Given the description of an element on the screen output the (x, y) to click on. 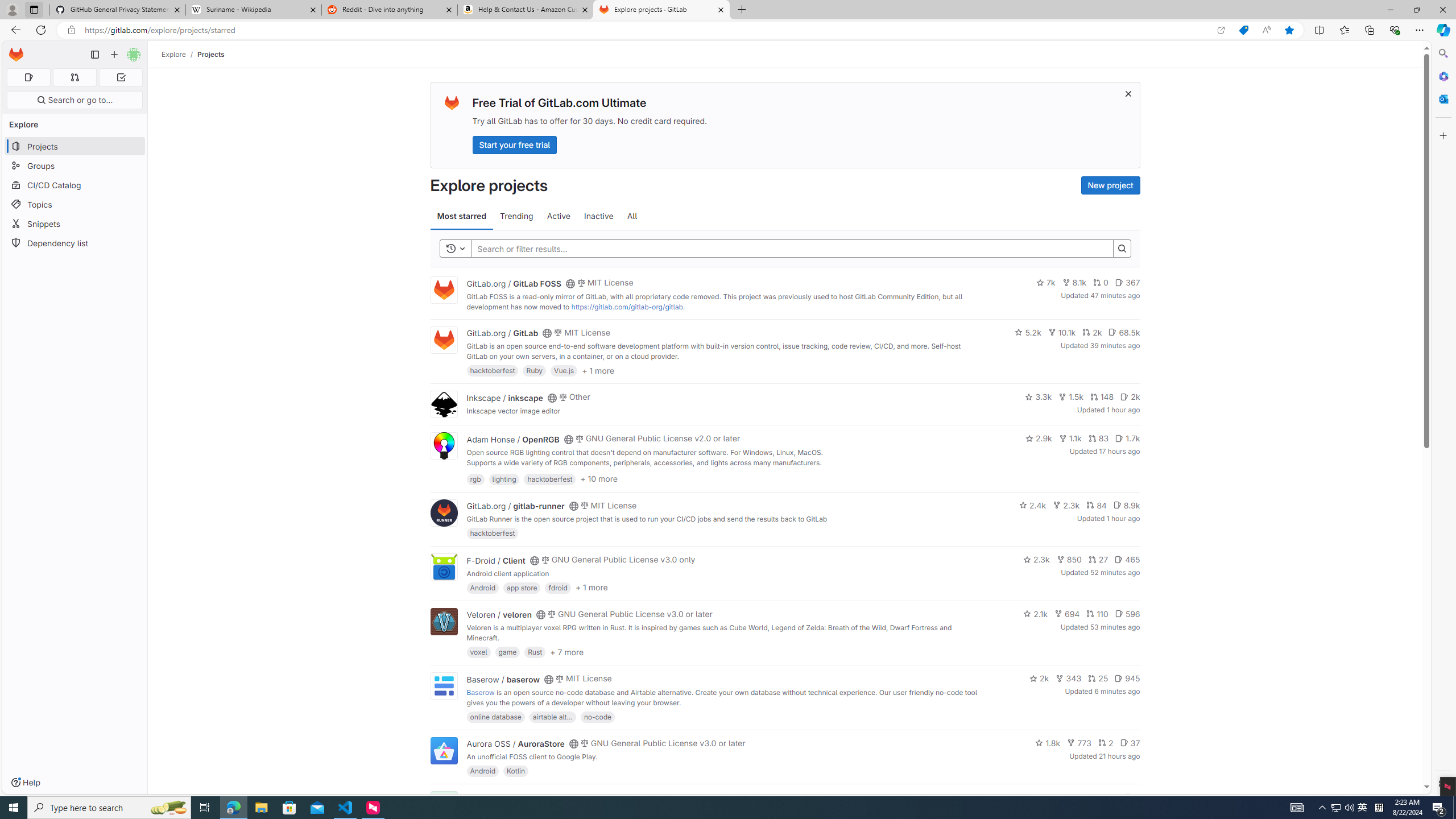
1 (1111, 797)
Projects (211, 53)
Start your free trial (514, 144)
1.7k (1127, 438)
rgb (475, 478)
27 (1097, 559)
694 (1067, 613)
Skip to main content (13, 49)
Primary navigation sidebar (94, 54)
CI/CD Catalog (74, 185)
